Given the description of an element on the screen output the (x, y) to click on. 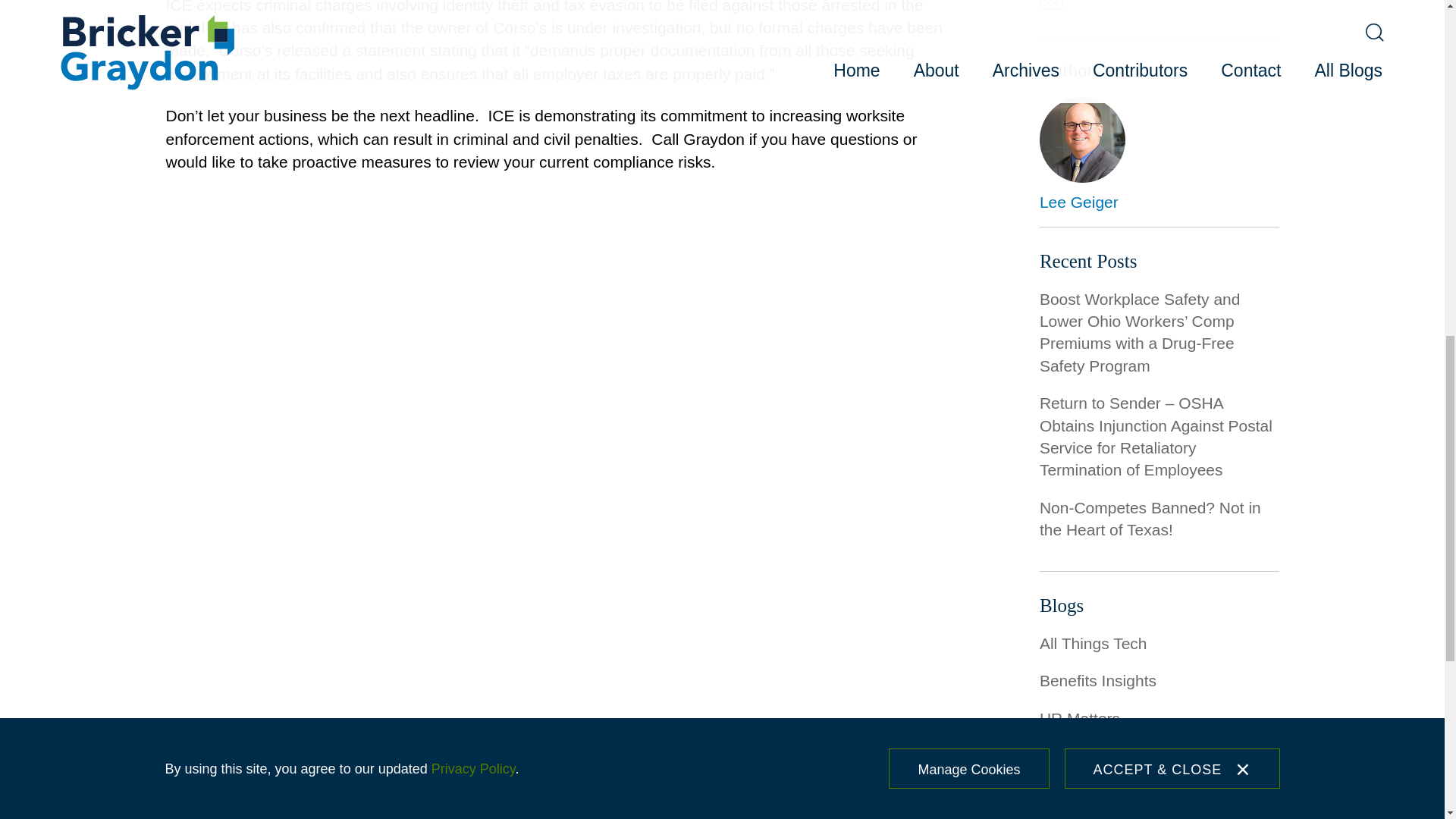
Non-Competes Banned? Not in the Heart of Texas! (1149, 518)
Lee Geiger (1078, 201)
Email (1050, 6)
All Things Tech (1093, 642)
Benefits Insights (1097, 680)
Email (1050, 5)
DevelopOhio (1085, 793)
HR Matters (1079, 718)
Compliance Connections (1127, 755)
